Given the description of an element on the screen output the (x, y) to click on. 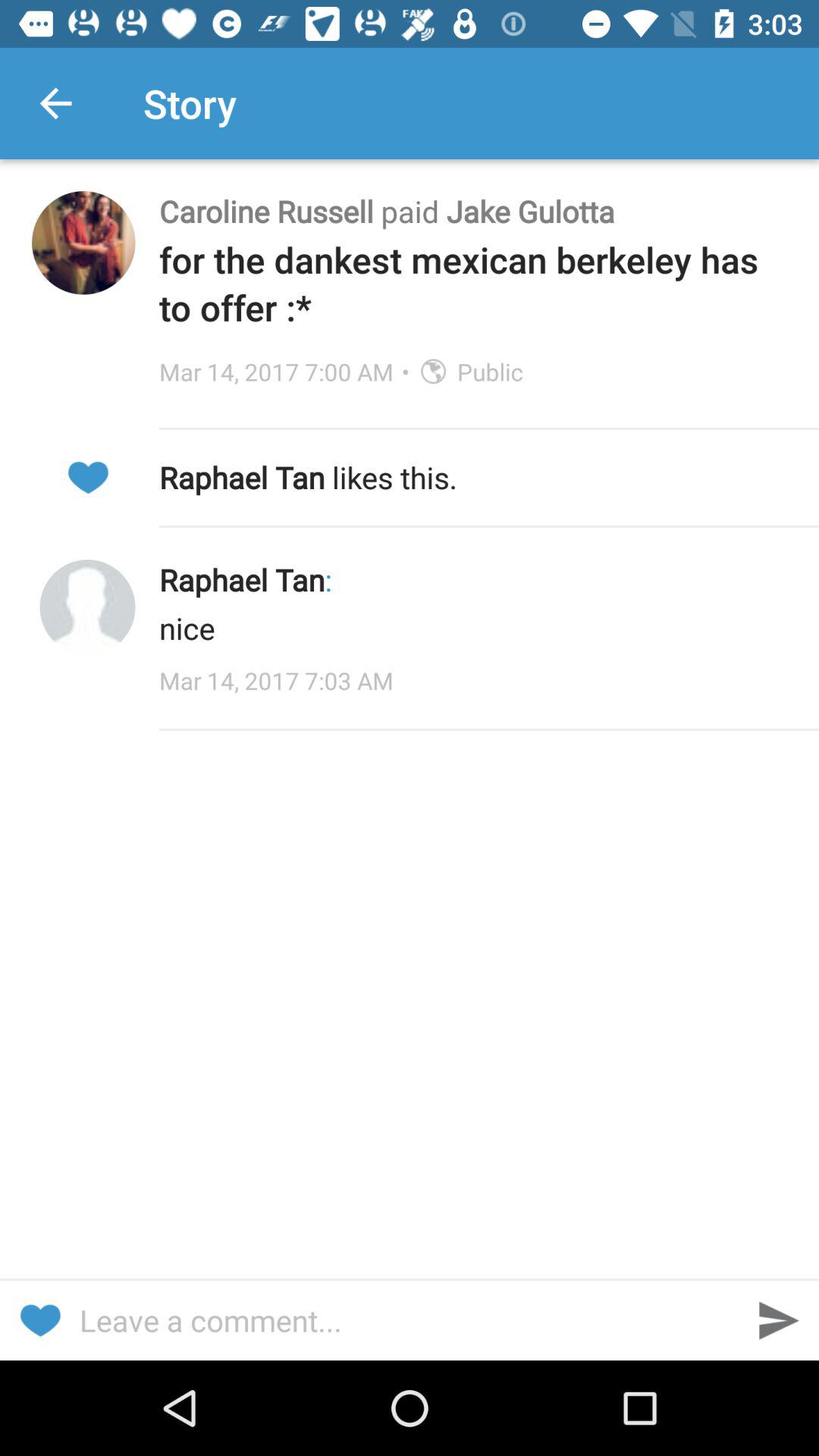
open the item to the left of the story icon (55, 103)
